Given the description of an element on the screen output the (x, y) to click on. 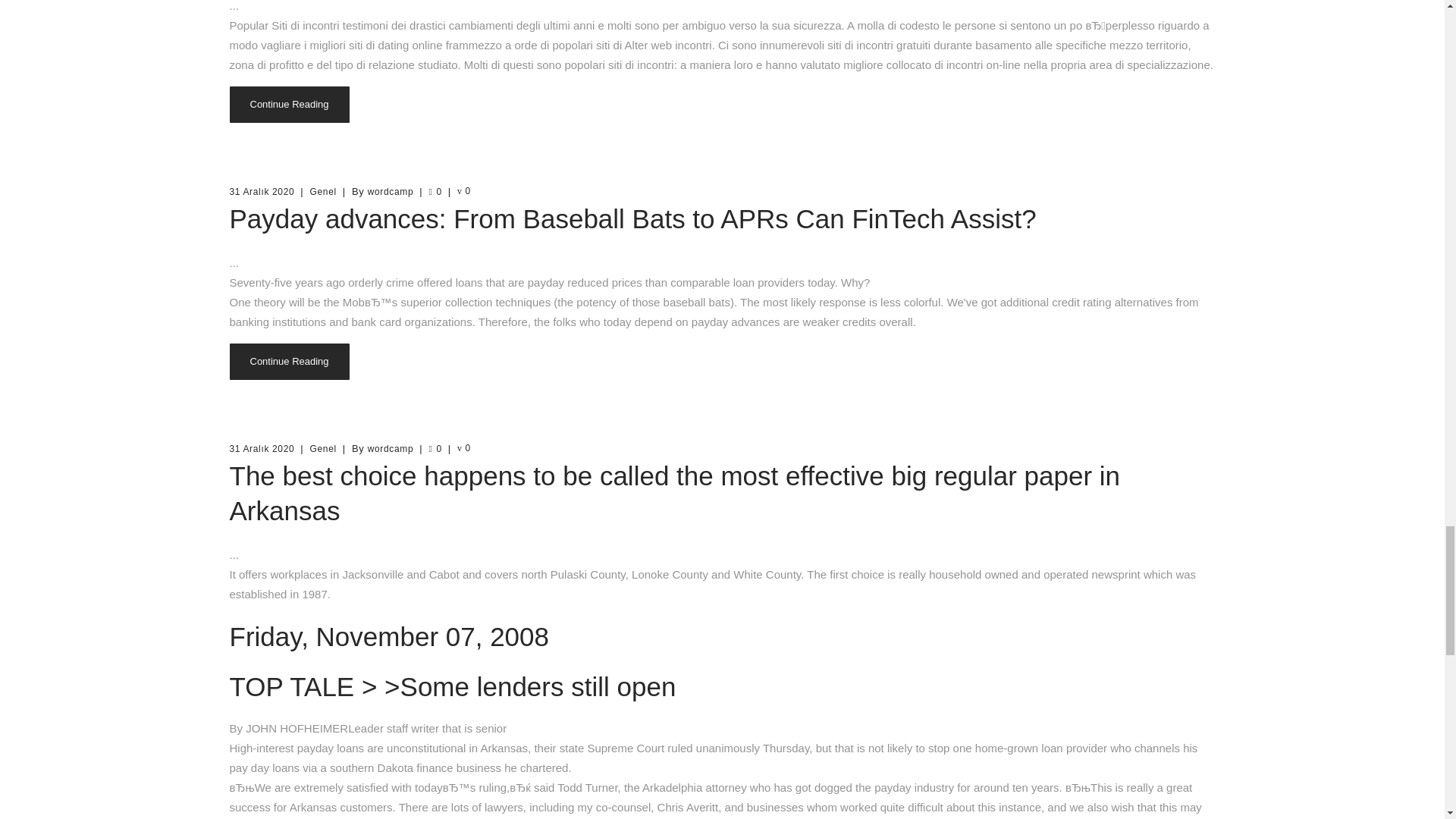
Like this (434, 448)
Like this (434, 191)
